Given the description of an element on the screen output the (x, y) to click on. 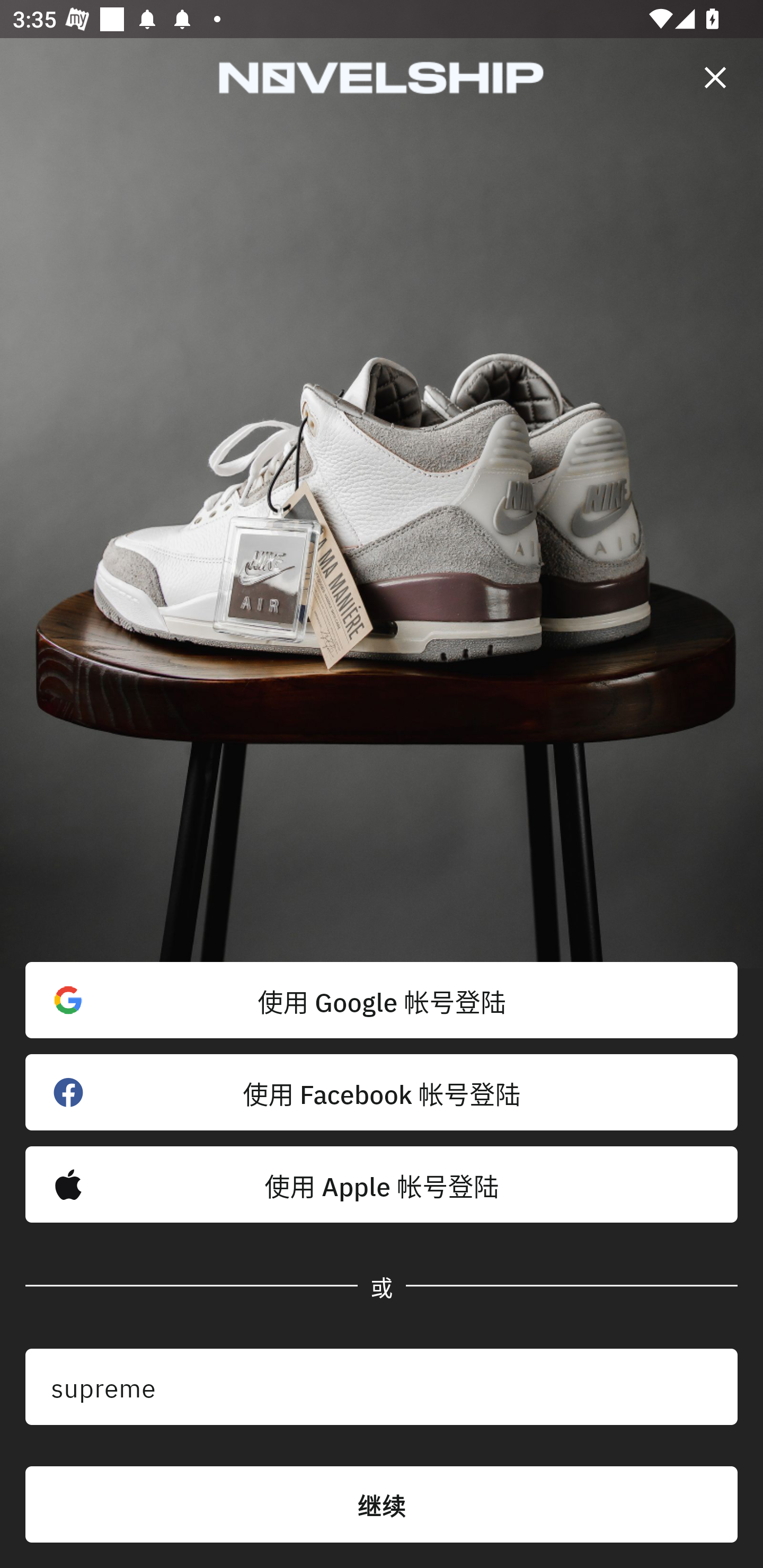
使用 Google 帐号登陆 (381, 1000)
使用 Facebook 帐号登陆 󰈌 (381, 1091)
 使用 Apple 帐号登陆 (381, 1184)
supreme (381, 1386)
继续 (381, 1504)
